Given the description of an element on the screen output the (x, y) to click on. 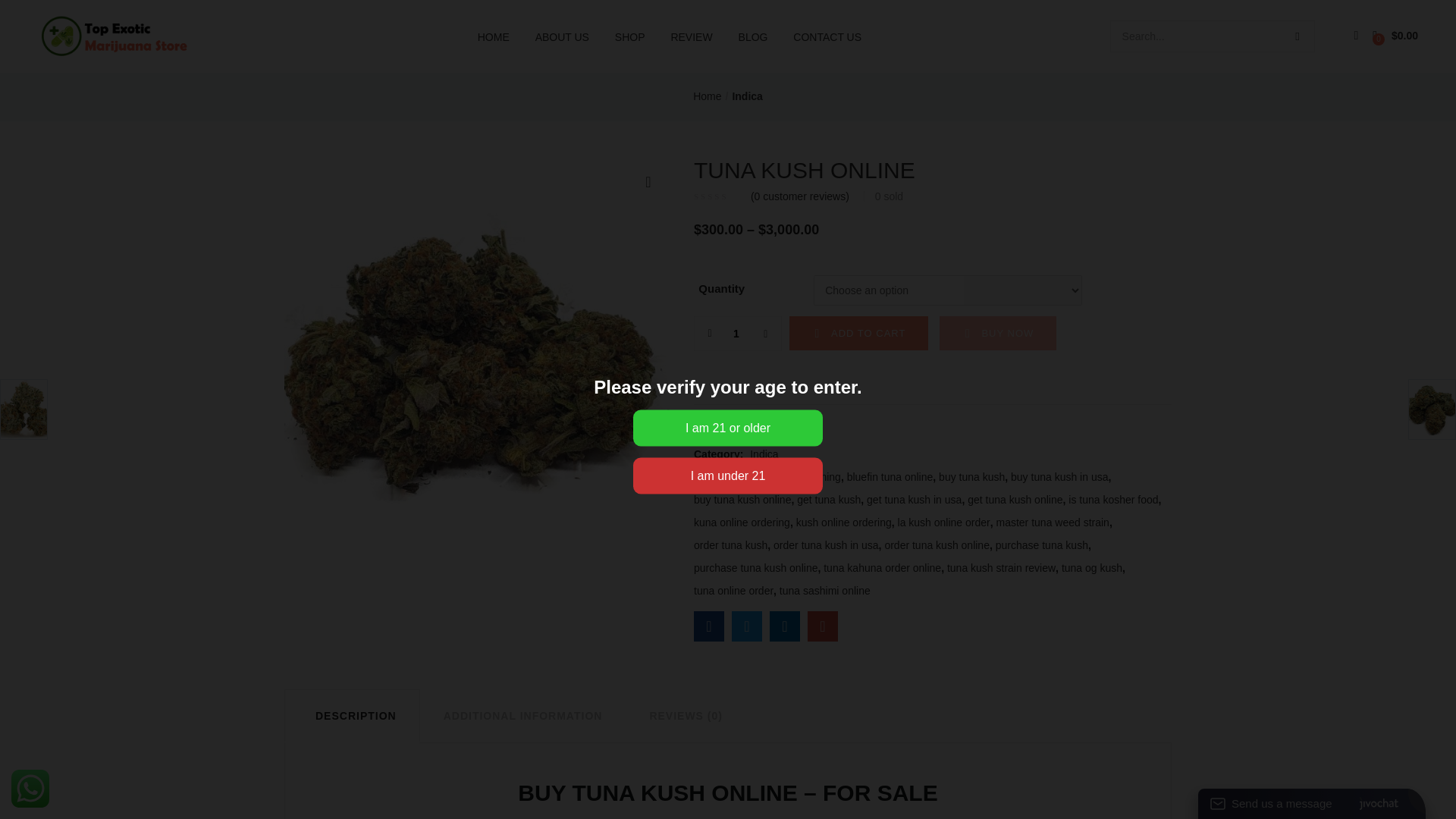
I am 21 or older (727, 427)
ABOUT US (561, 36)
View your shopping cart (1395, 36)
TUNA KUSH ONLINE (708, 625)
TUNA KUSH ONLINE (823, 625)
CONTACT US (826, 36)
I am under 21 (727, 475)
